Given the description of an element on the screen output the (x, y) to click on. 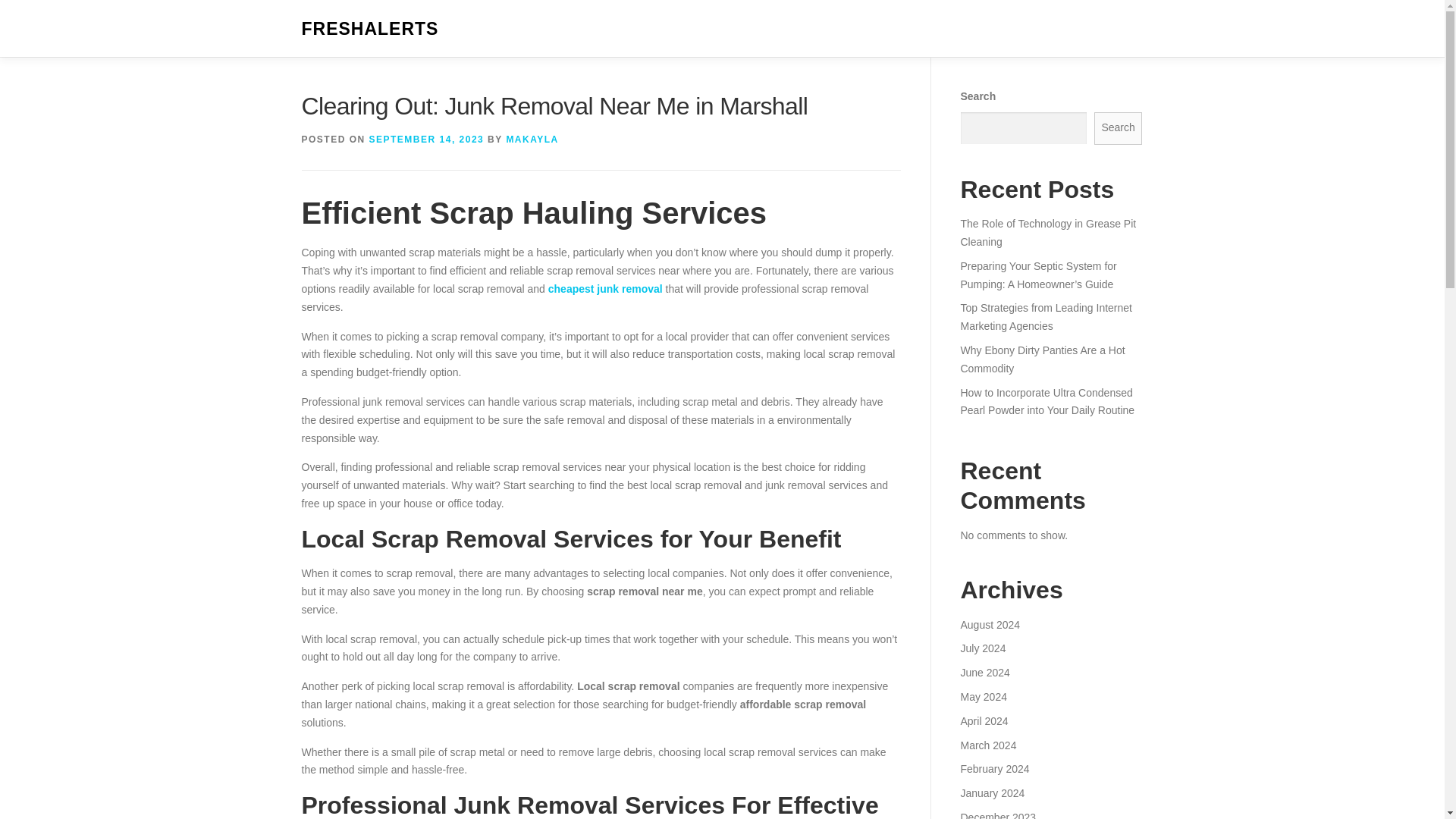
SEPTEMBER 14, 2023 (426, 139)
June 2024 (984, 672)
May 2024 (982, 696)
July 2024 (982, 648)
Top Strategies from Leading Internet Marketing Agencies (1045, 317)
Search (1118, 128)
August 2024 (989, 624)
Why Ebony Dirty Panties Are a Hot Commodity (1041, 358)
MAKAYLA (531, 139)
FRESHALERTS (370, 29)
February 2024 (994, 768)
December 2023 (997, 815)
The Role of Technology in Grease Pit Cleaning (1047, 232)
April 2024 (983, 720)
